Given the description of an element on the screen output the (x, y) to click on. 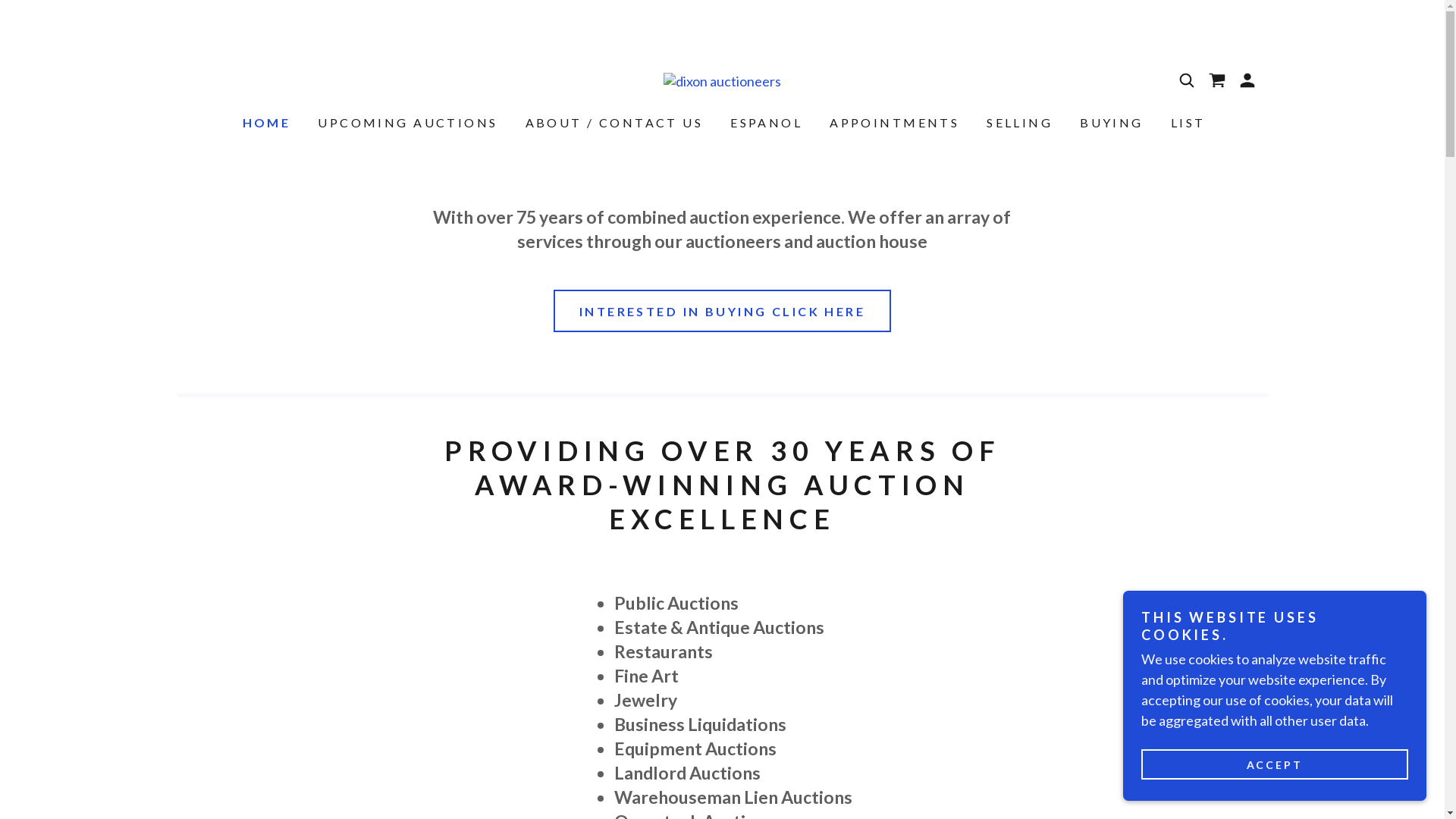
SELLING Element type: text (1018, 122)
APPOINTMENTS Element type: text (892, 122)
dixon auctioneers Element type: hover (722, 79)
ACCEPT Element type: text (1274, 764)
UPCOMING AUCTIONS Element type: text (406, 122)
ESPANOL Element type: text (764, 122)
INTERESTED IN BUYING CLICK HERE Element type: text (722, 310)
BUYING Element type: text (1110, 122)
ABOUT / CONTACT US Element type: text (612, 122)
LIST Element type: text (1186, 122)
HOME Element type: text (265, 122)
